Given the description of an element on the screen output the (x, y) to click on. 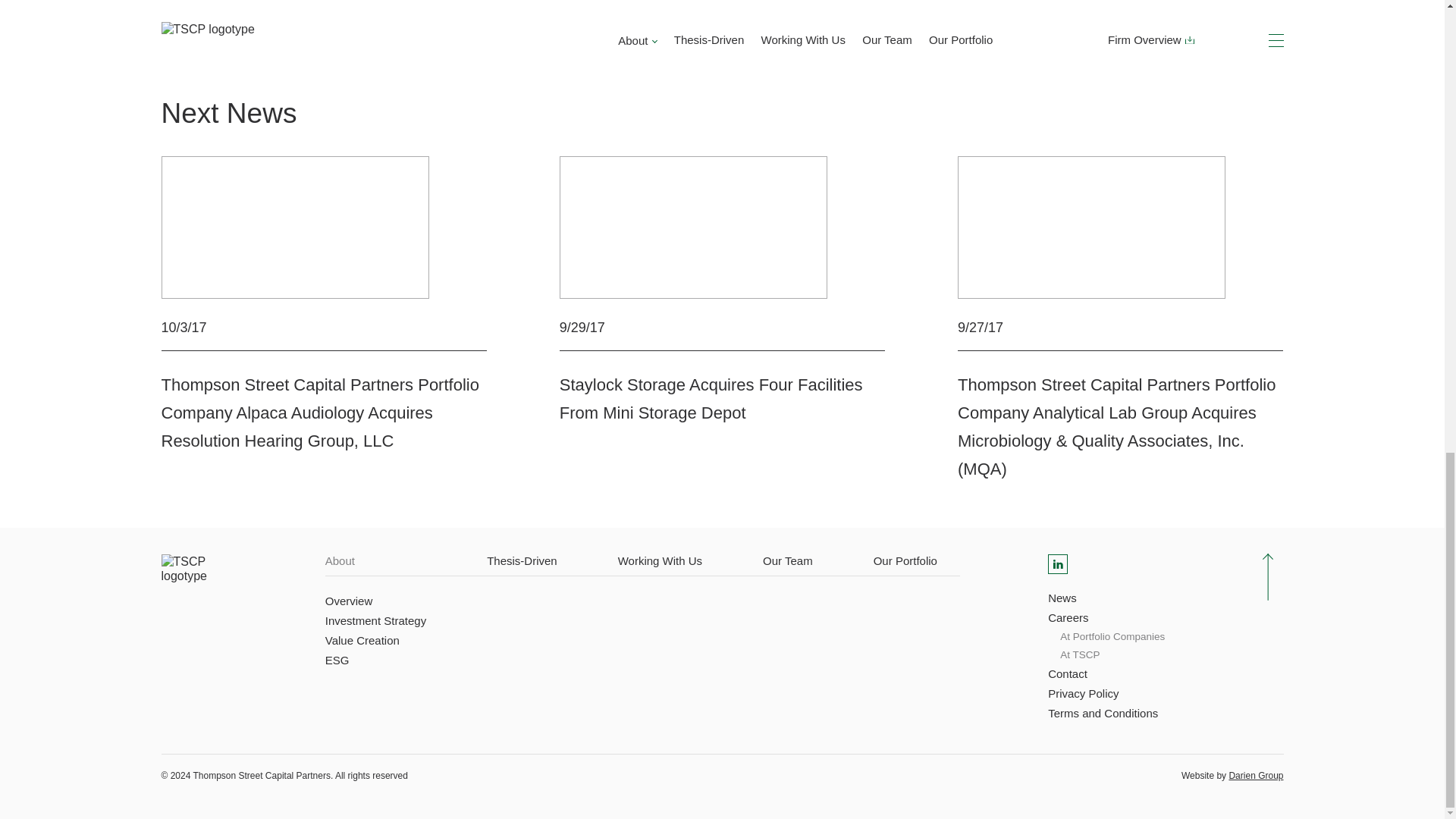
Investment Strategy (375, 620)
Value Creation (361, 640)
At TSCP (1079, 655)
At Portfolio Companies (1111, 637)
ESG (336, 660)
Our Team (787, 560)
News (1062, 598)
Contact (1067, 673)
Thesis-Driven (521, 560)
Working With Us (659, 560)
Overview (348, 600)
Our Portfolio (905, 560)
Careers (1067, 618)
